Given the description of an element on the screen output the (x, y) to click on. 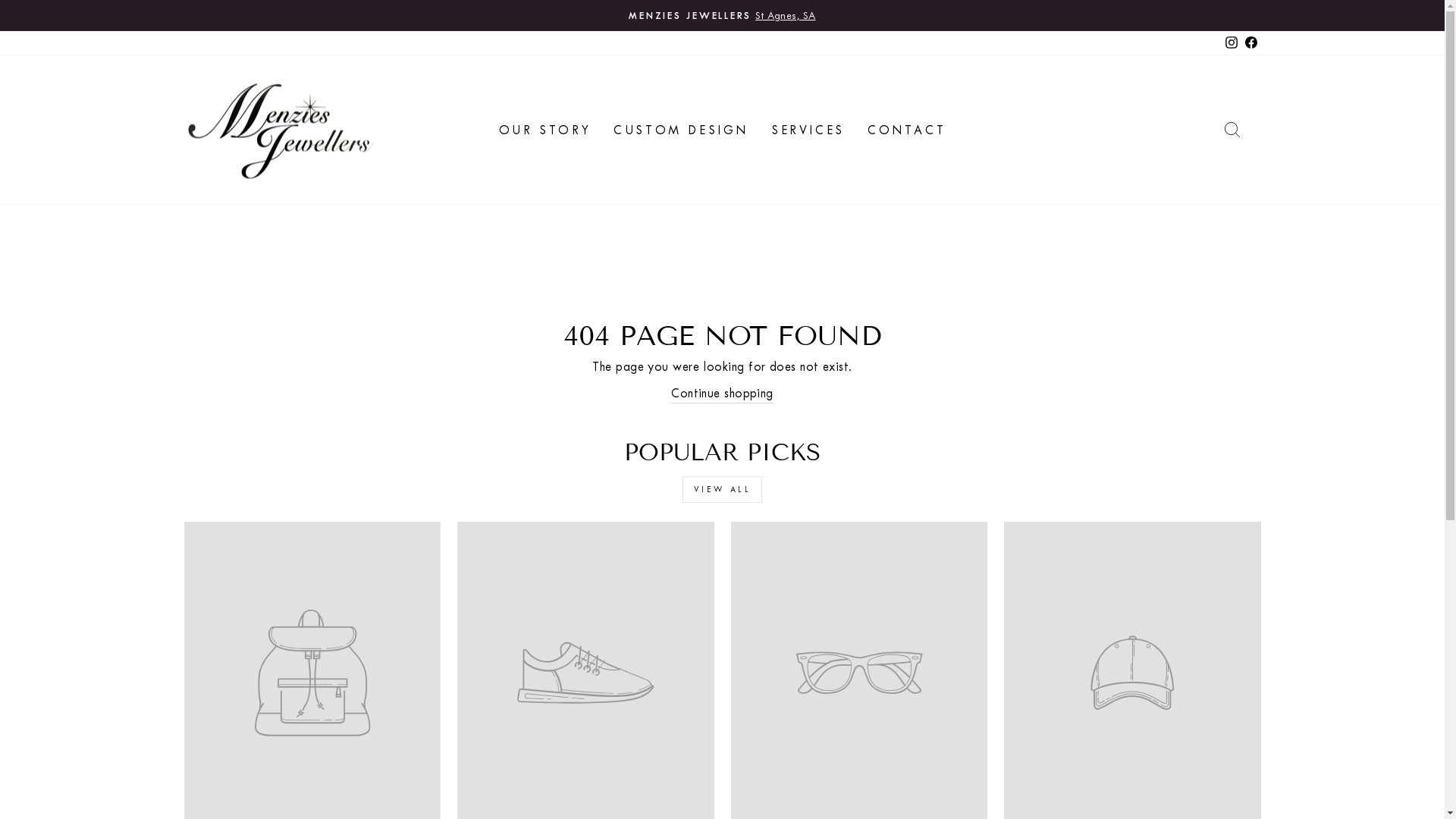
Facebook Element type: text (1250, 42)
SERVICES Element type: text (807, 129)
OUR STORY Element type: text (544, 129)
VIEW ALL Element type: text (722, 489)
MENZIES JEWELLERSSt Agnes, SA Element type: text (722, 15)
Continue shopping Element type: text (722, 393)
CUSTOM DESIGN Element type: text (680, 129)
Skip to content Element type: text (0, 0)
CONTACT Element type: text (906, 129)
Instagram Element type: text (1230, 42)
SEARCH Element type: text (1231, 128)
